Given the description of an element on the screen output the (x, y) to click on. 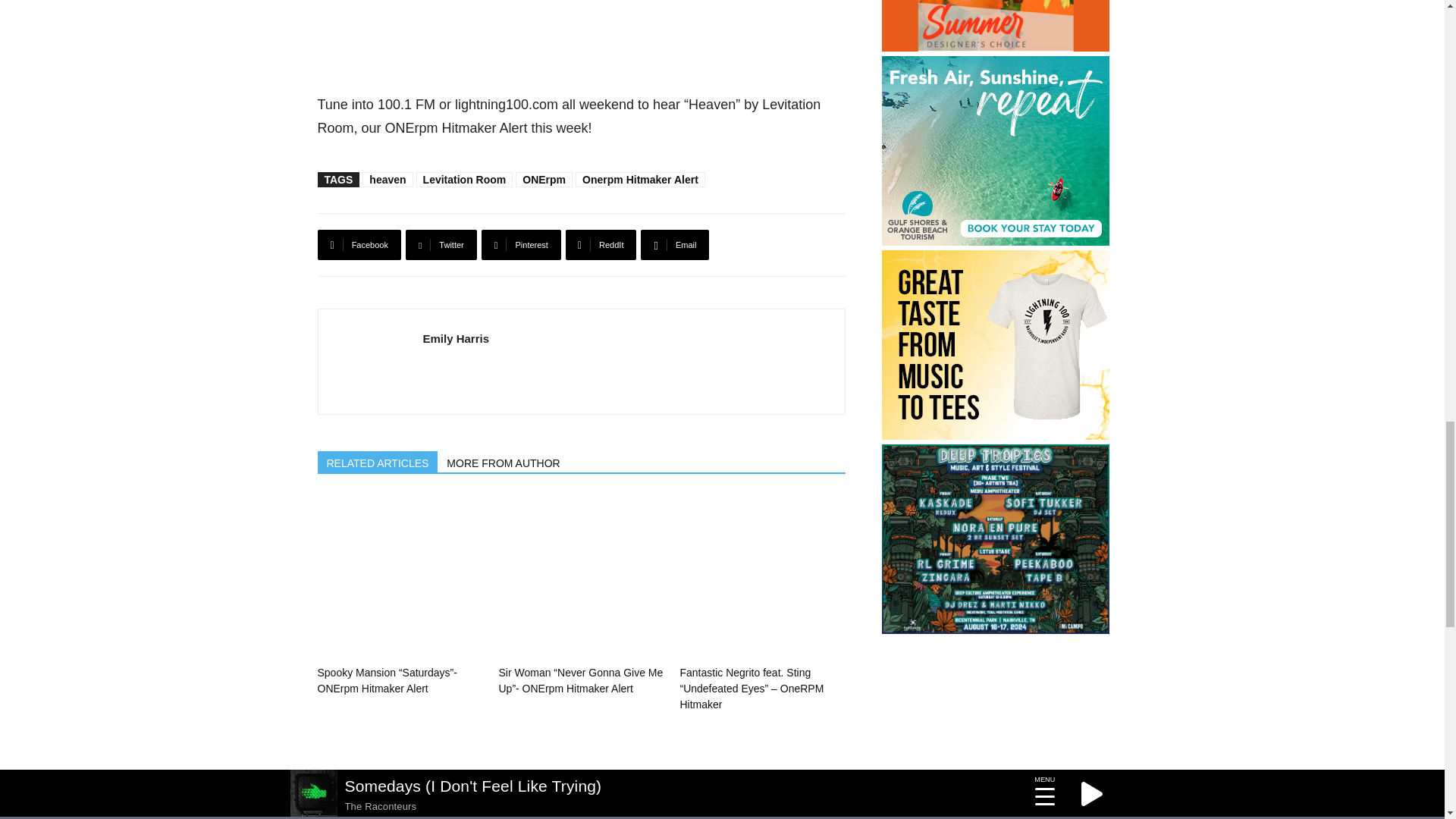
ReddIt (601, 245)
Twitter (441, 245)
Facebook (358, 245)
Pinterest (520, 245)
